Given the description of an element on the screen output the (x, y) to click on. 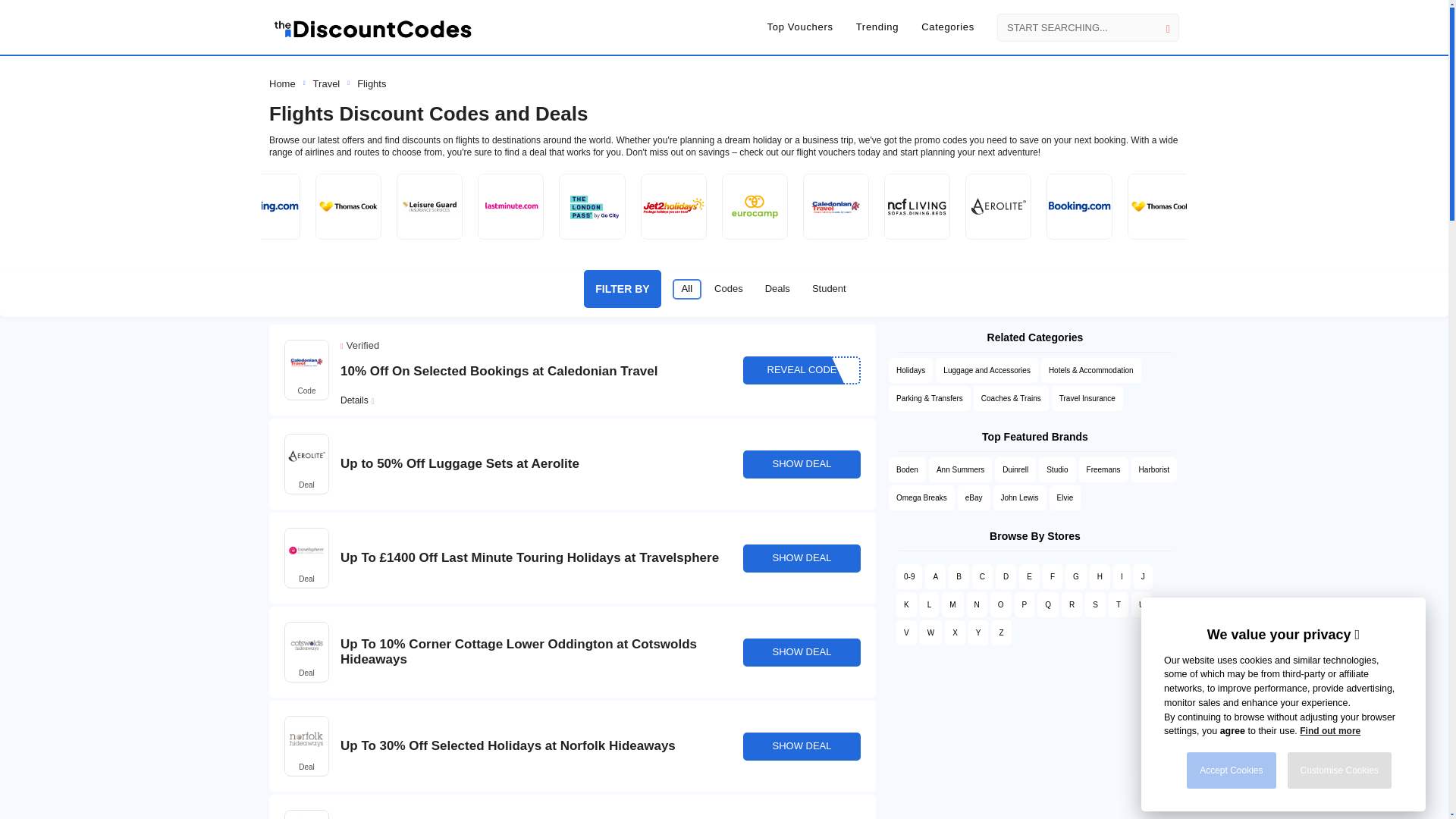
Top Vouchers (799, 27)
Top Discounts (799, 27)
Go to theDiscountCodes Home (373, 27)
Booking.com (267, 206)
Thomas Cook (347, 206)
Categories (947, 27)
lastminute.com (510, 206)
Trending (877, 27)
Leisure Guard (429, 206)
